Given the description of an element on the screen output the (x, y) to click on. 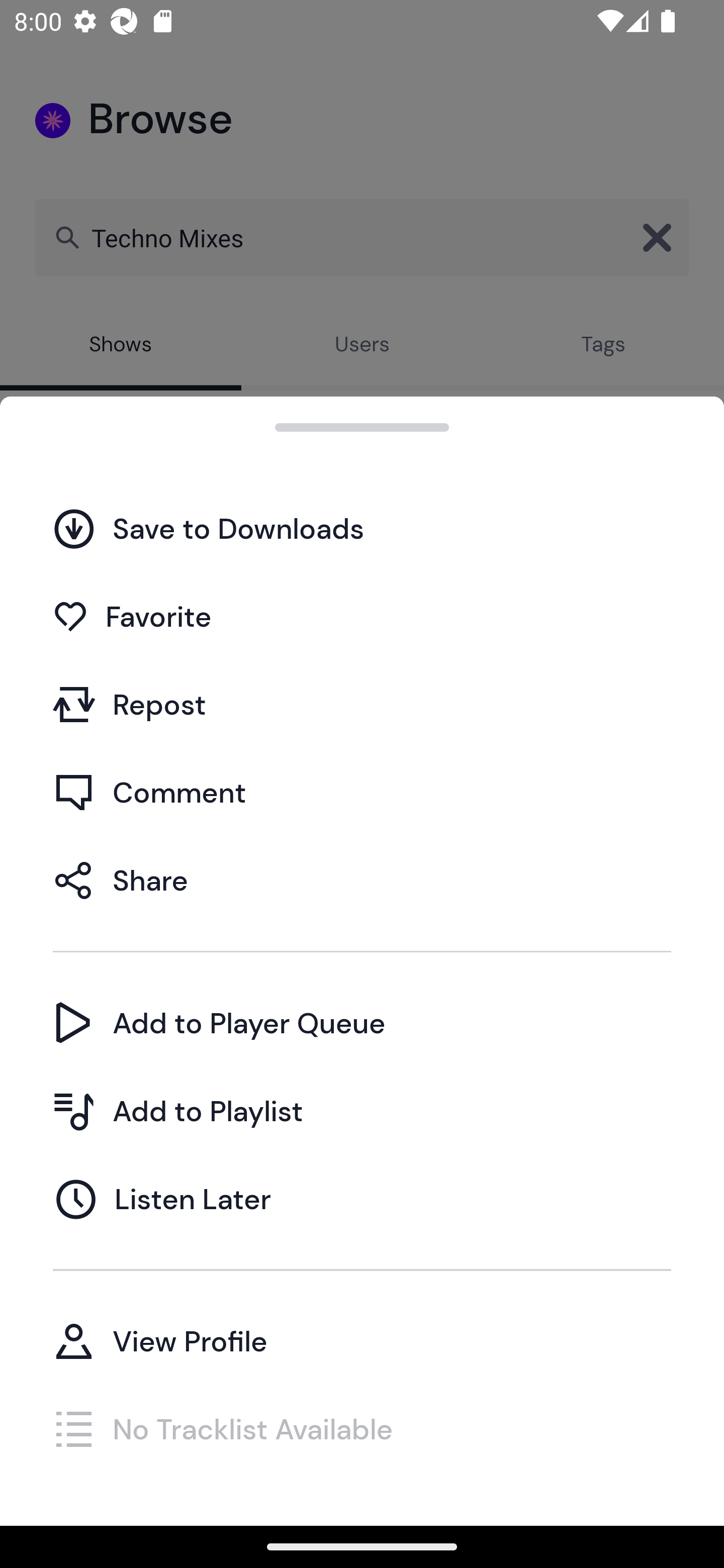
Save to Downloads (361, 528)
Favorite (361, 616)
Repost (361, 703)
Comment (361, 791)
Share (361, 879)
Add to Player Queue (361, 1022)
Add to Playlist (361, 1110)
Listen Later (361, 1199)
View Profile (361, 1340)
No Tracklist Available (361, 1428)
